Given the description of an element on the screen output the (x, y) to click on. 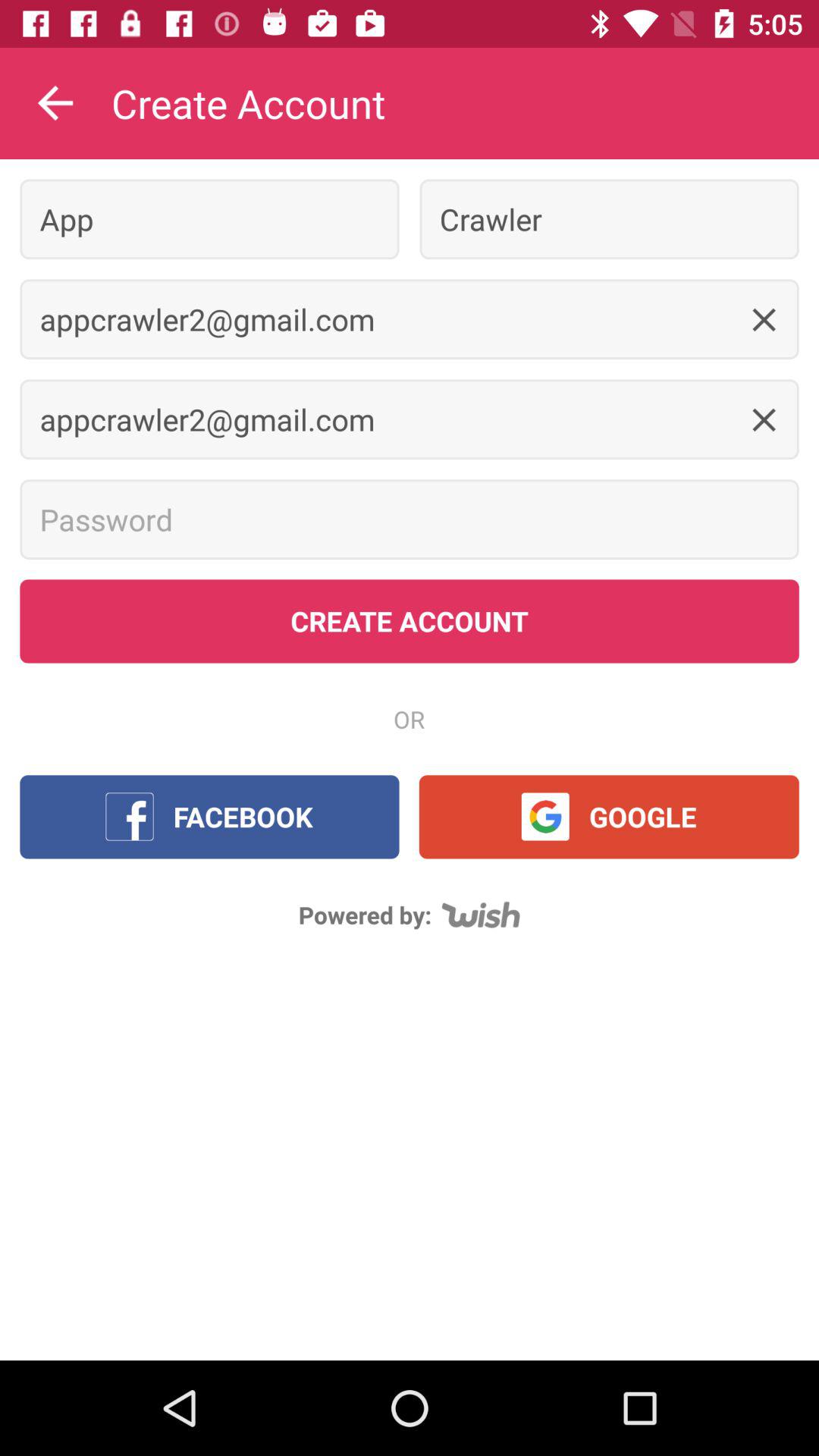
choose the icon next to create account (55, 103)
